Given the description of an element on the screen output the (x, y) to click on. 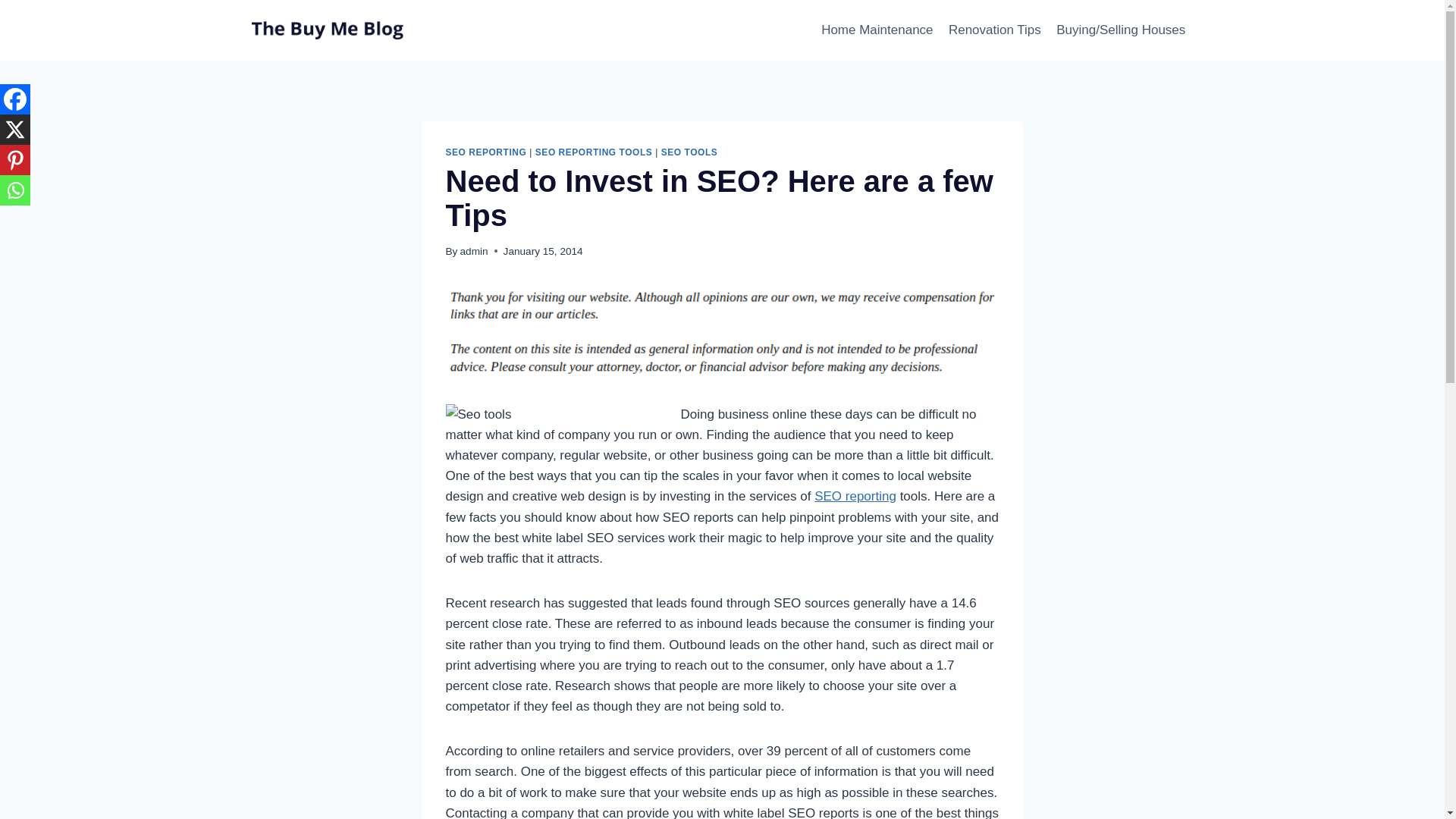
Facebook (15, 99)
Pinterest (15, 159)
admin (473, 251)
SEO TOOLS (689, 152)
Seo reports, Seo reports (854, 495)
SEO reporting (854, 495)
SEO REPORTING (486, 152)
Whatsapp (15, 190)
X (15, 129)
Home Maintenance (876, 30)
SEO REPORTING TOOLS (593, 152)
Renovation Tips (994, 30)
